Given the description of an element on the screen output the (x, y) to click on. 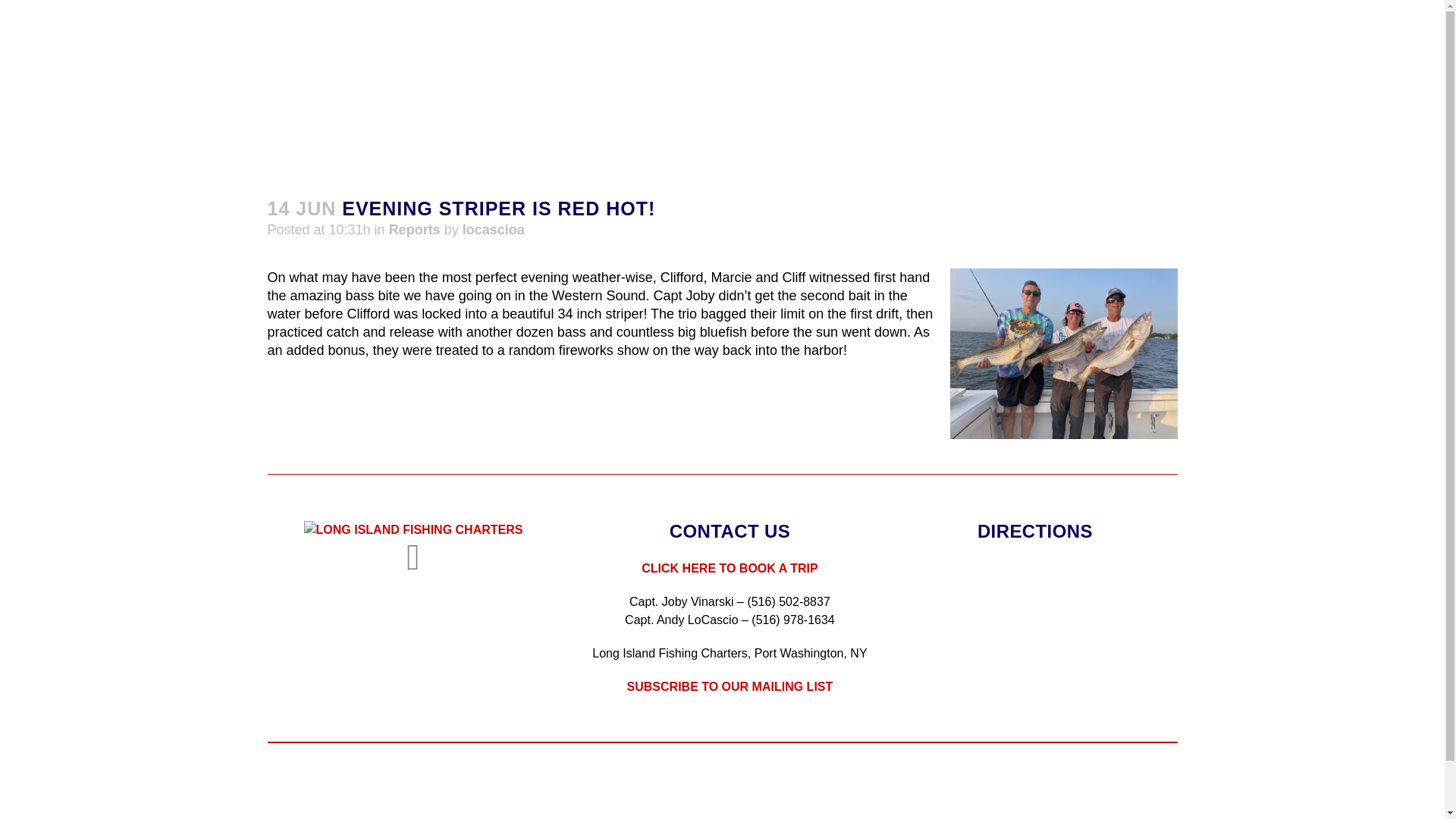
Reports (414, 229)
SUBSCRIBE TO OUR MAILING LIST (729, 686)
OUR BOATS (695, 79)
RESOURCES (1241, 79)
CONTACT US (1353, 79)
CLICK HERE TO BOOK A TRIP (729, 567)
RECENT REPORTS (1019, 79)
THE CAPTAINS (879, 79)
locascioa (493, 229)
